Given the description of an element on the screen output the (x, y) to click on. 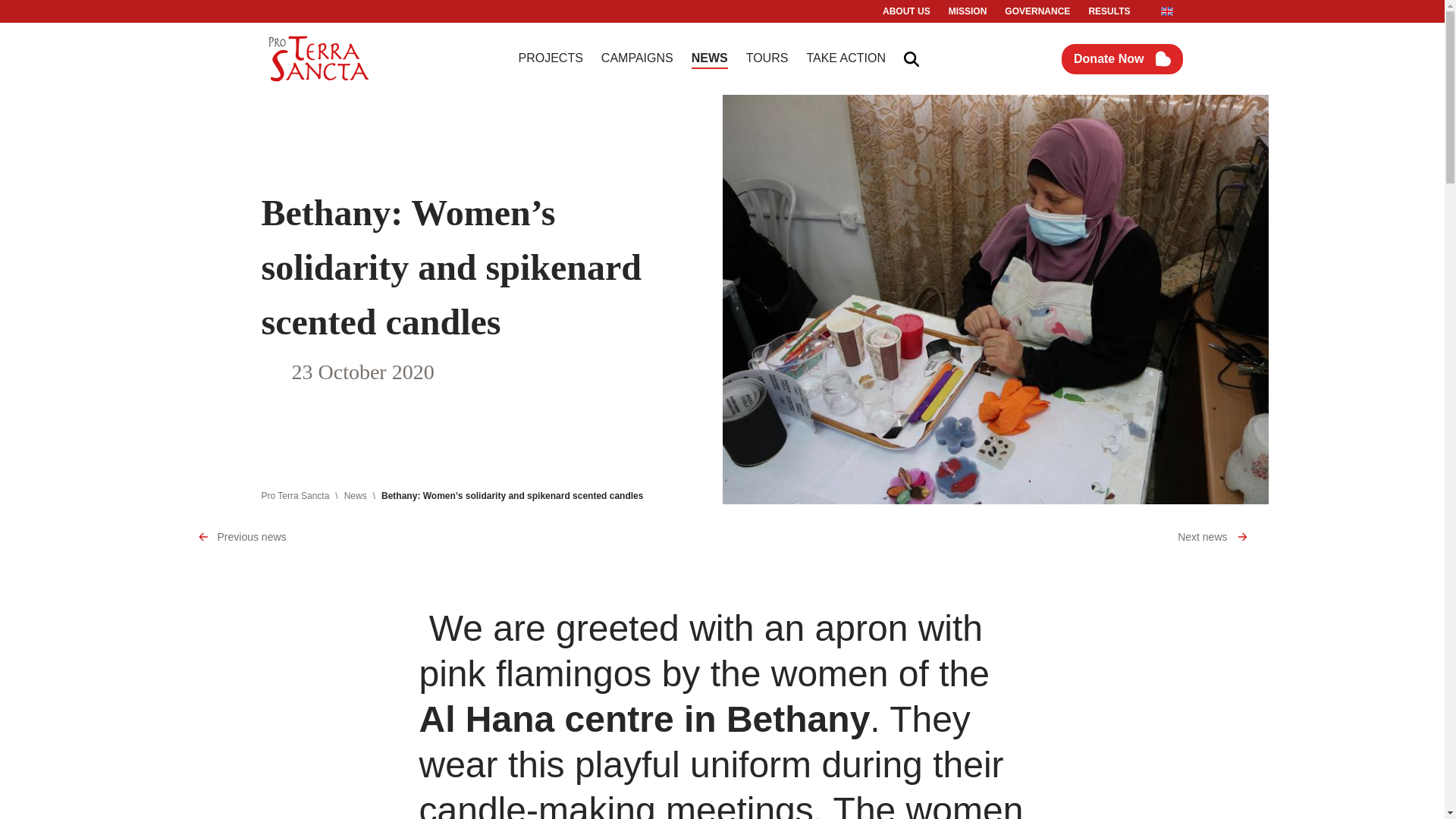
ABOUT US (906, 10)
NEWS (709, 57)
MISSION (968, 10)
TAKE ACTION (845, 57)
RESULTS (1108, 10)
TOURS (767, 57)
CAMPAIGNS (636, 57)
GOVERNANCE (1037, 10)
PROJECTS (550, 57)
